Given the description of an element on the screen output the (x, y) to click on. 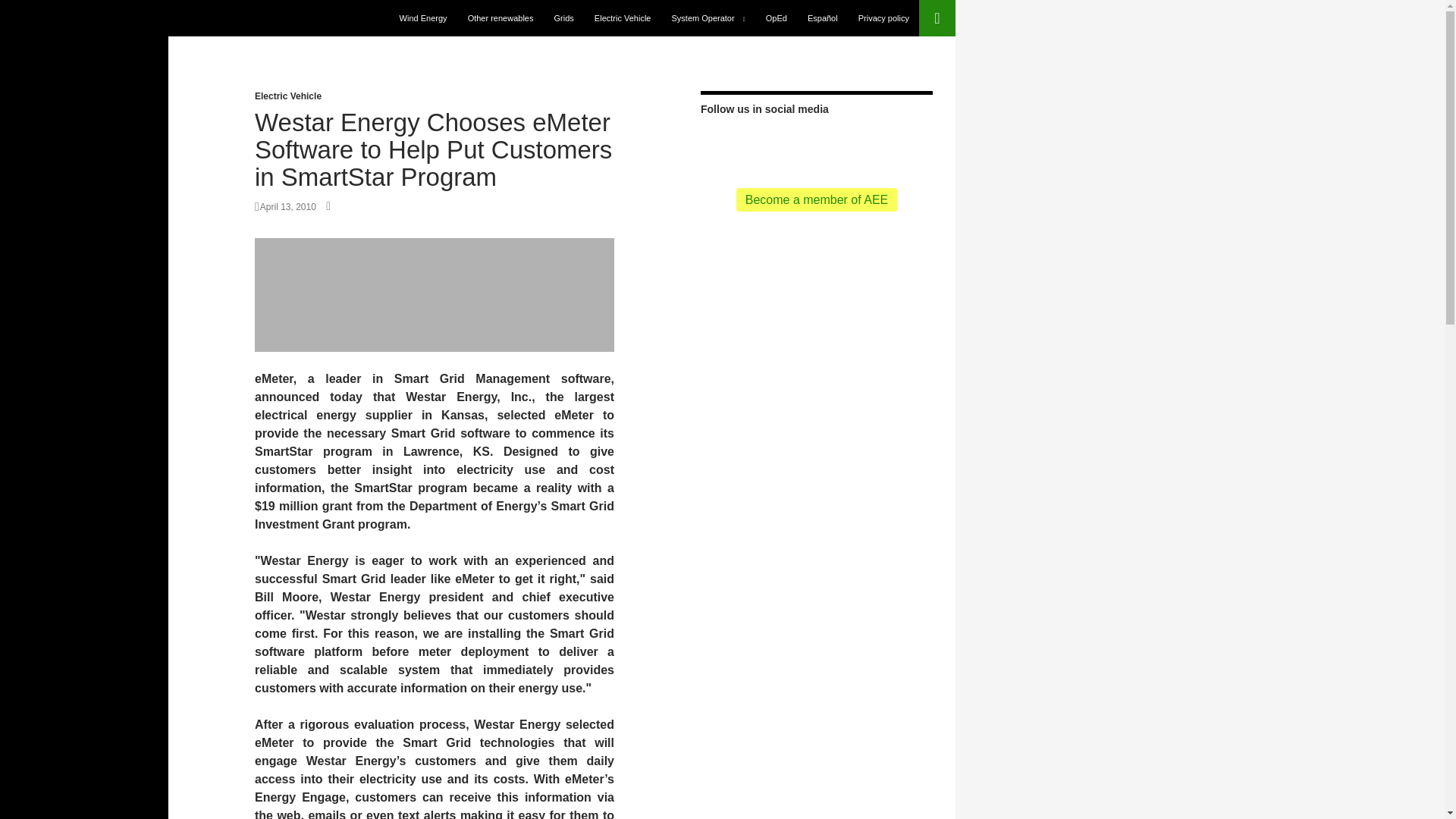
twitter (743, 143)
System Operator (708, 18)
facebook (767, 143)
April 13, 2010 (284, 206)
OpEd (776, 18)
Grids (563, 18)
Other renewables (500, 18)
Tiktok (840, 143)
youtube (792, 143)
